Given the description of an element on the screen output the (x, y) to click on. 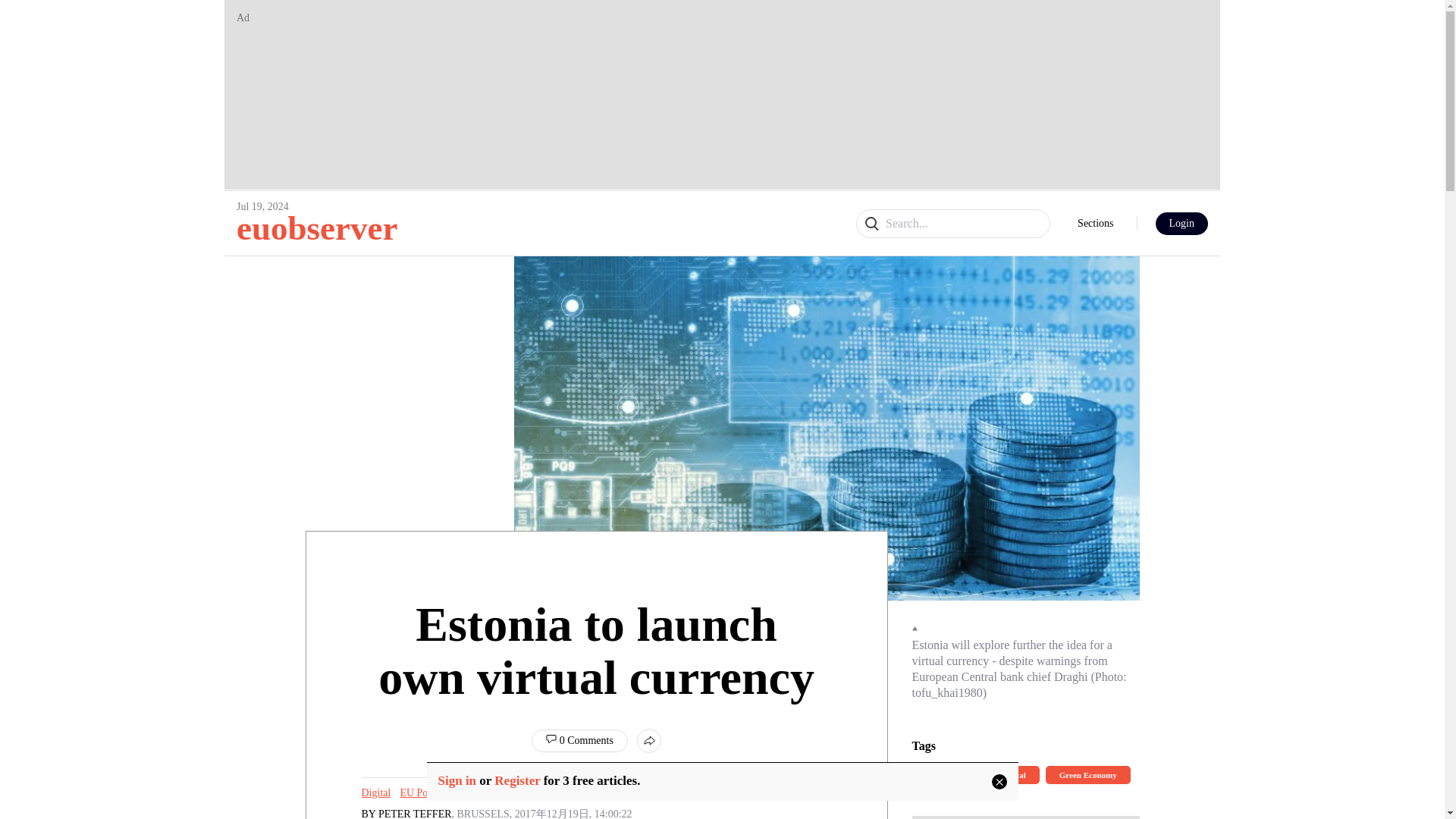
EU Political (1004, 774)
Login (1182, 223)
euobserver (316, 227)
0 Comments (579, 740)
3rd party ad content (1024, 817)
EU Political (424, 793)
Green Economy (1088, 774)
Digital (375, 793)
BY PETER TEFFER (406, 813)
Digital (936, 774)
Sections (1095, 223)
Green Economy (495, 793)
